Given the description of an element on the screen output the (x, y) to click on. 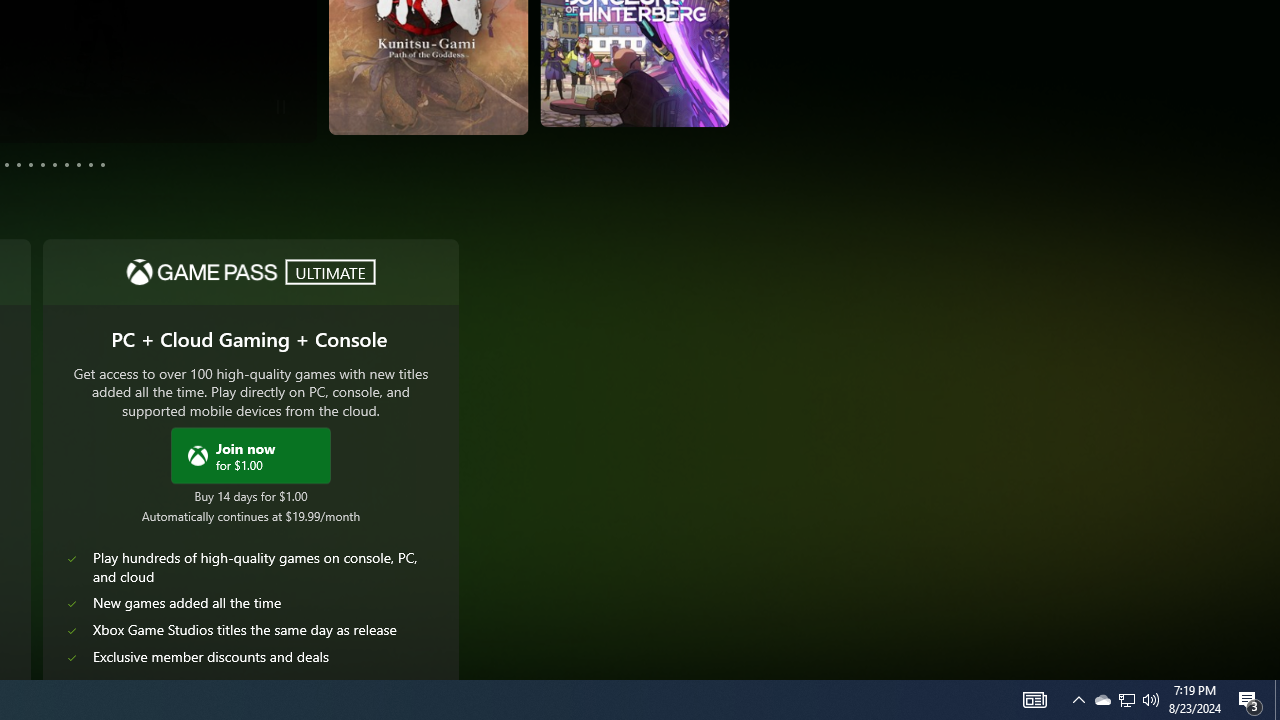
Play Trailer (659, 101)
Page 12 (102, 164)
Flintlock: The Siege of Dawn (668, 73)
Pause Trailer (280, 106)
Join Xbox Game Pass Ultimate now for $1.00 (251, 454)
Page 5 (18, 164)
Page 6 (31, 164)
Page 11 (90, 164)
Class: Image (197, 454)
Page 4 (6, 164)
Page 8 (54, 164)
Dungeons Of Hinterberg (481, 79)
Kunitsu-Gami: Path of the Goddess (302, 83)
Page 7 (42, 164)
Page 10 (78, 164)
